Given the description of an element on the screen output the (x, y) to click on. 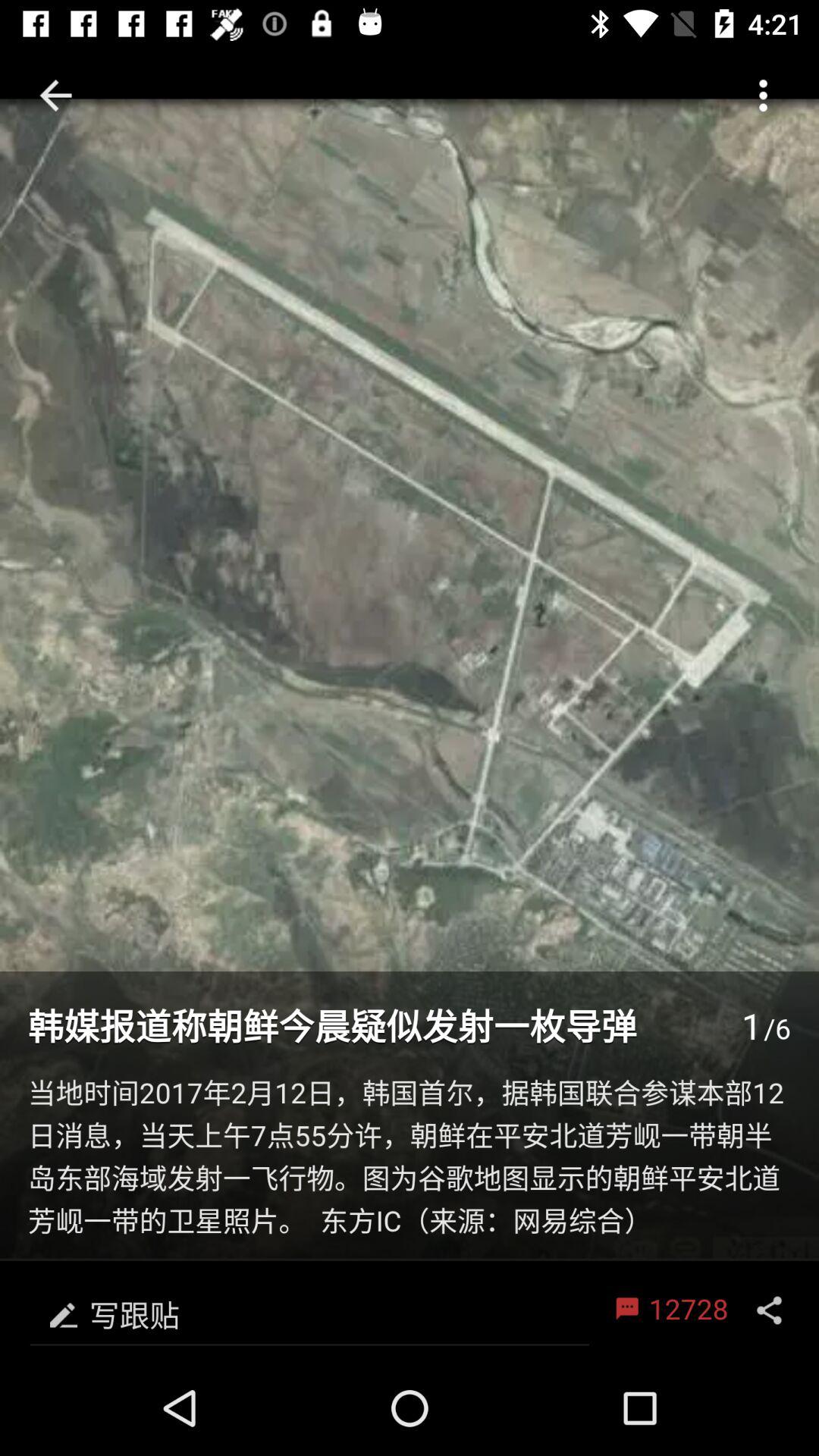
click 12728 icon (668, 1310)
